Given the description of an element on the screen output the (x, y) to click on. 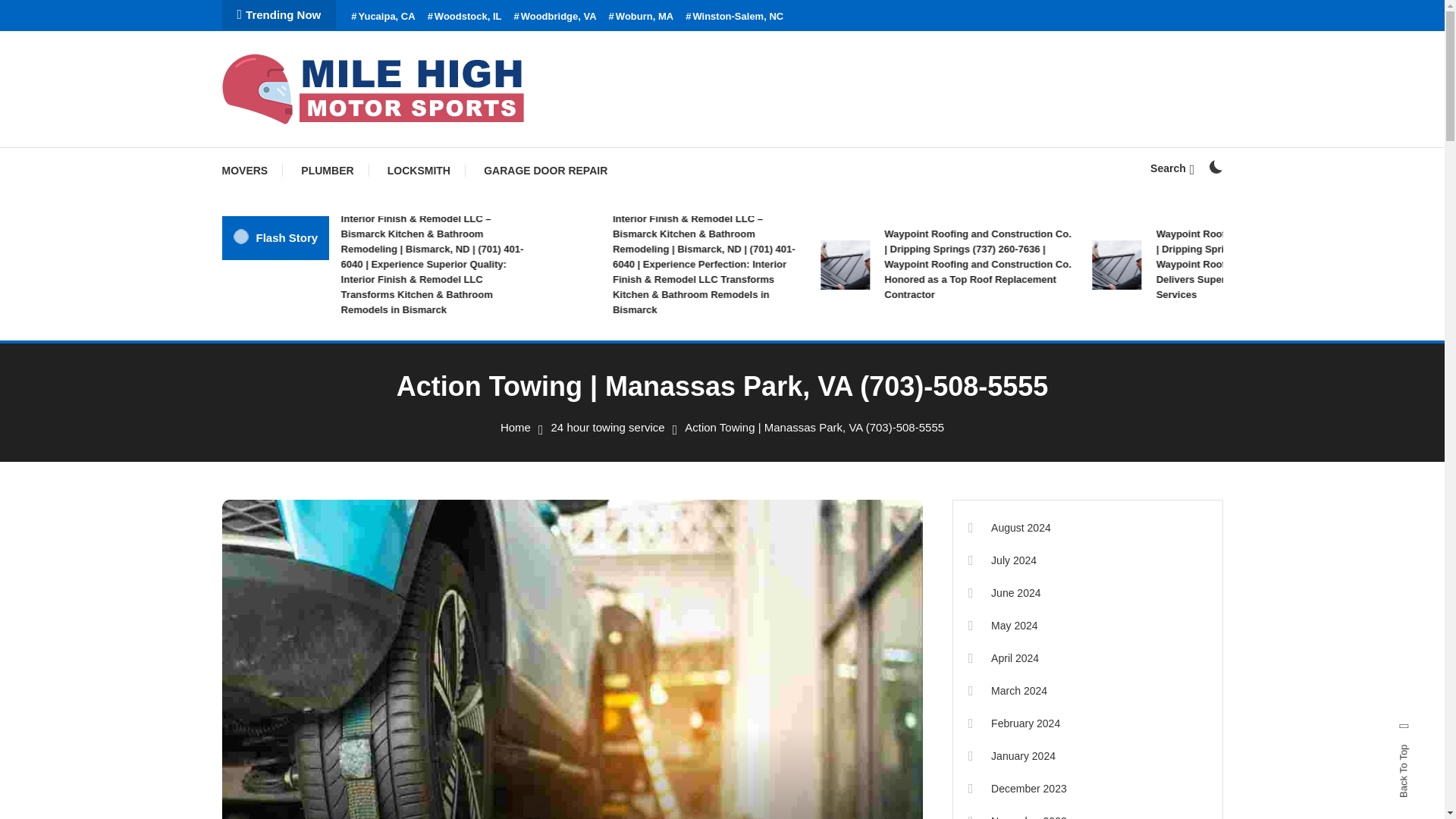
Winston-Salem, NC (734, 16)
on (1215, 166)
PLUMBER (326, 170)
Yucaipa, CA (382, 16)
24 hour towing service (608, 427)
GARAGE DOOR REPAIR (545, 170)
Search (768, 434)
LOCKSMITH (418, 170)
Woodstock, IL (465, 16)
Woburn, MA (641, 16)
